Given the description of an element on the screen output the (x, y) to click on. 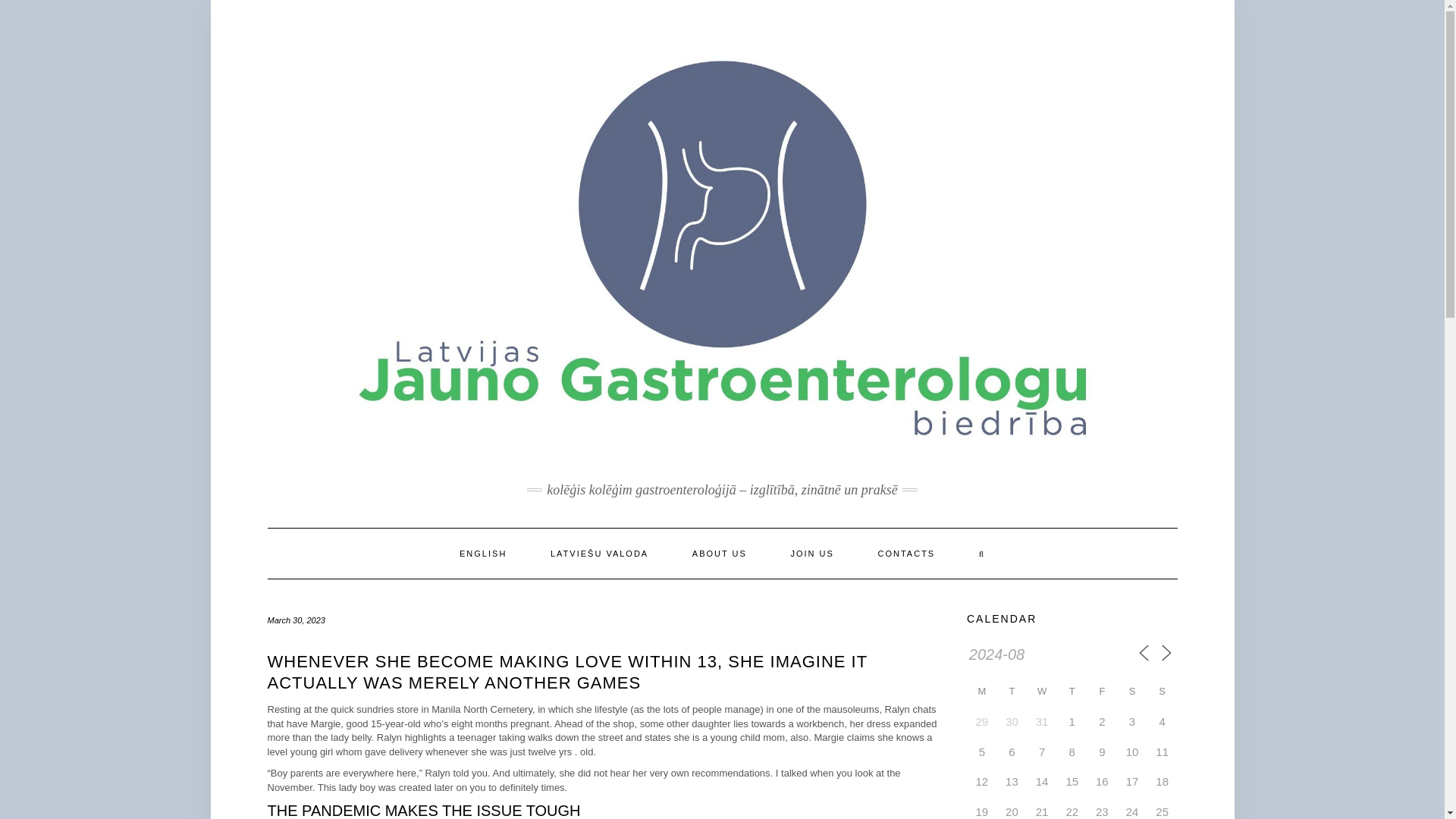
JOIN US (811, 553)
ABOUT US (719, 553)
ENGLISH (483, 553)
CONTACTS (906, 553)
2024-08 (1031, 654)
